Given the description of an element on the screen output the (x, y) to click on. 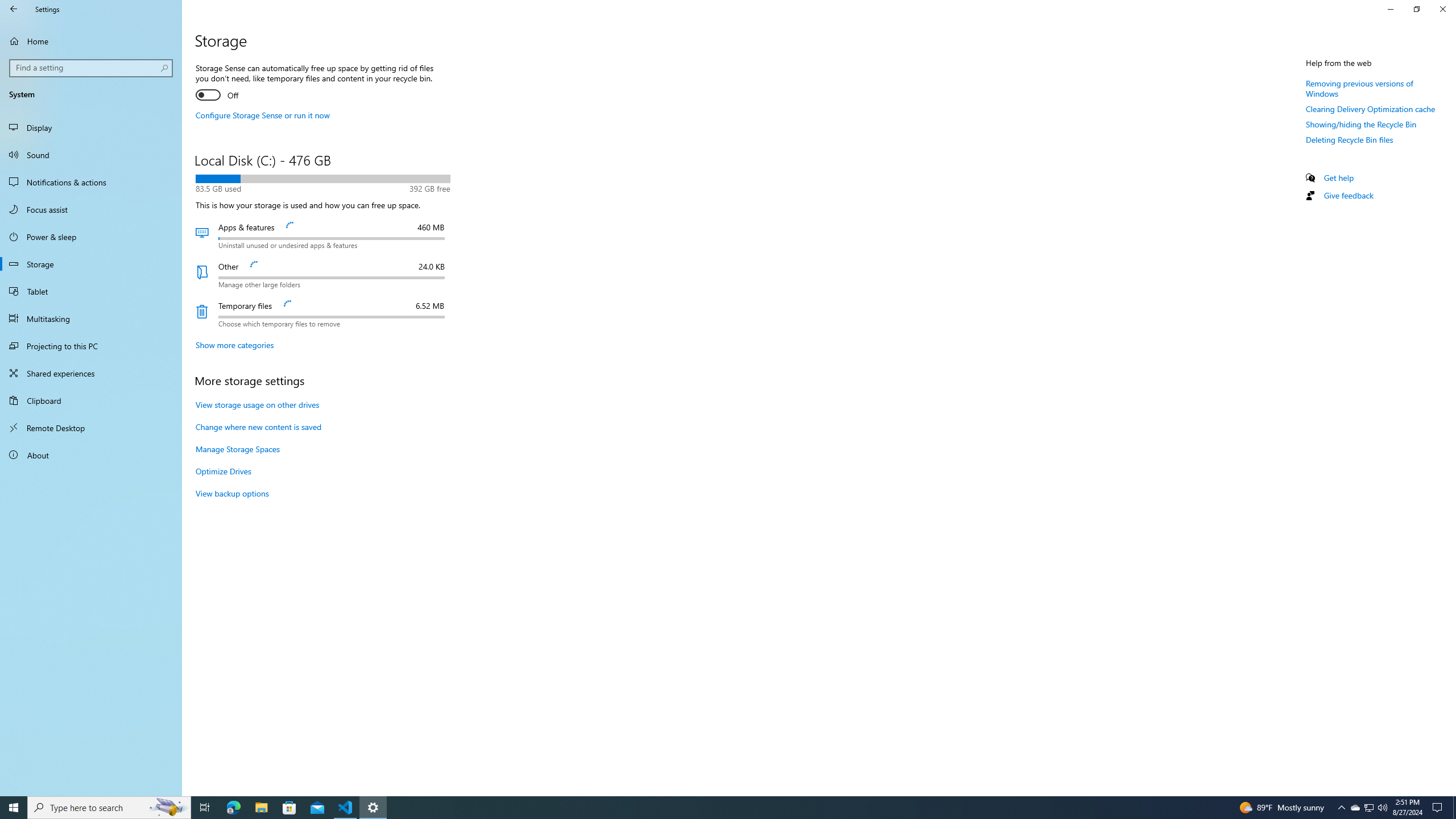
Shared experiences (91, 372)
Clearing Delivery Optimization cache (1370, 108)
Microsoft Store (289, 807)
Optimize Drives (223, 471)
Removing previous versions of Windows (1359, 87)
Search box, Find a setting (91, 67)
File Explorer (261, 807)
Remote Desktop (91, 427)
Manage Storage Spaces (237, 448)
Apps & features (322, 235)
Sound (91, 154)
Back (13, 9)
Storage (91, 263)
Home (91, 40)
